Given the description of an element on the screen output the (x, y) to click on. 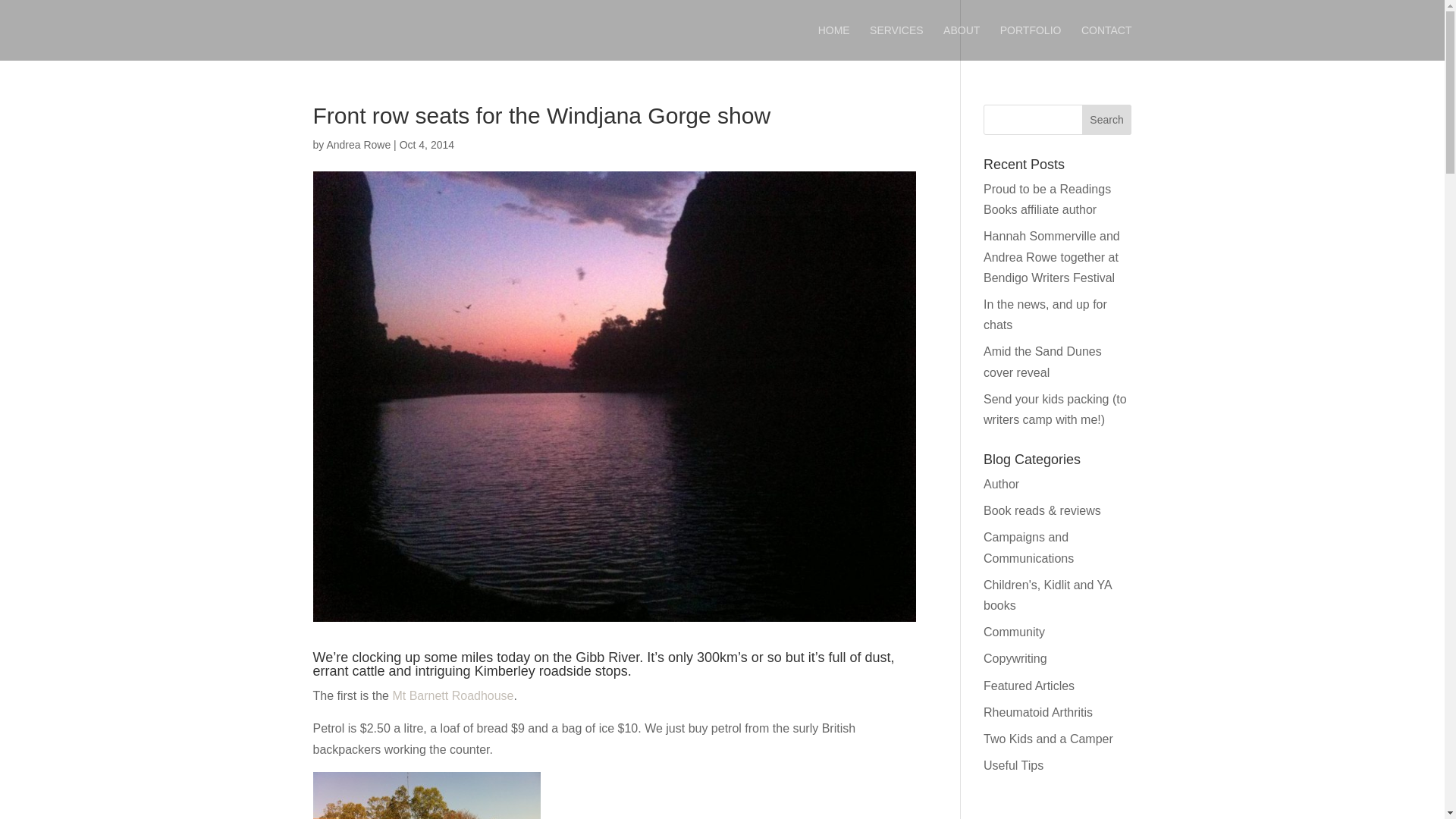
Andrea Rowe (358, 144)
Proud to be a Readings Books affiliate author (1047, 199)
Search (1106, 119)
ABOUT (961, 42)
CONTACT (1106, 42)
Search (1106, 119)
Mt Barnett Roadhouse (452, 695)
HOME (834, 42)
In the news, and up for chats (1045, 314)
Posts by Andrea Rowe (358, 144)
SERVICES (896, 42)
PORTFOLIO (1030, 42)
Amid the Sand Dunes cover reveal (1043, 361)
